Given the description of an element on the screen output the (x, y) to click on. 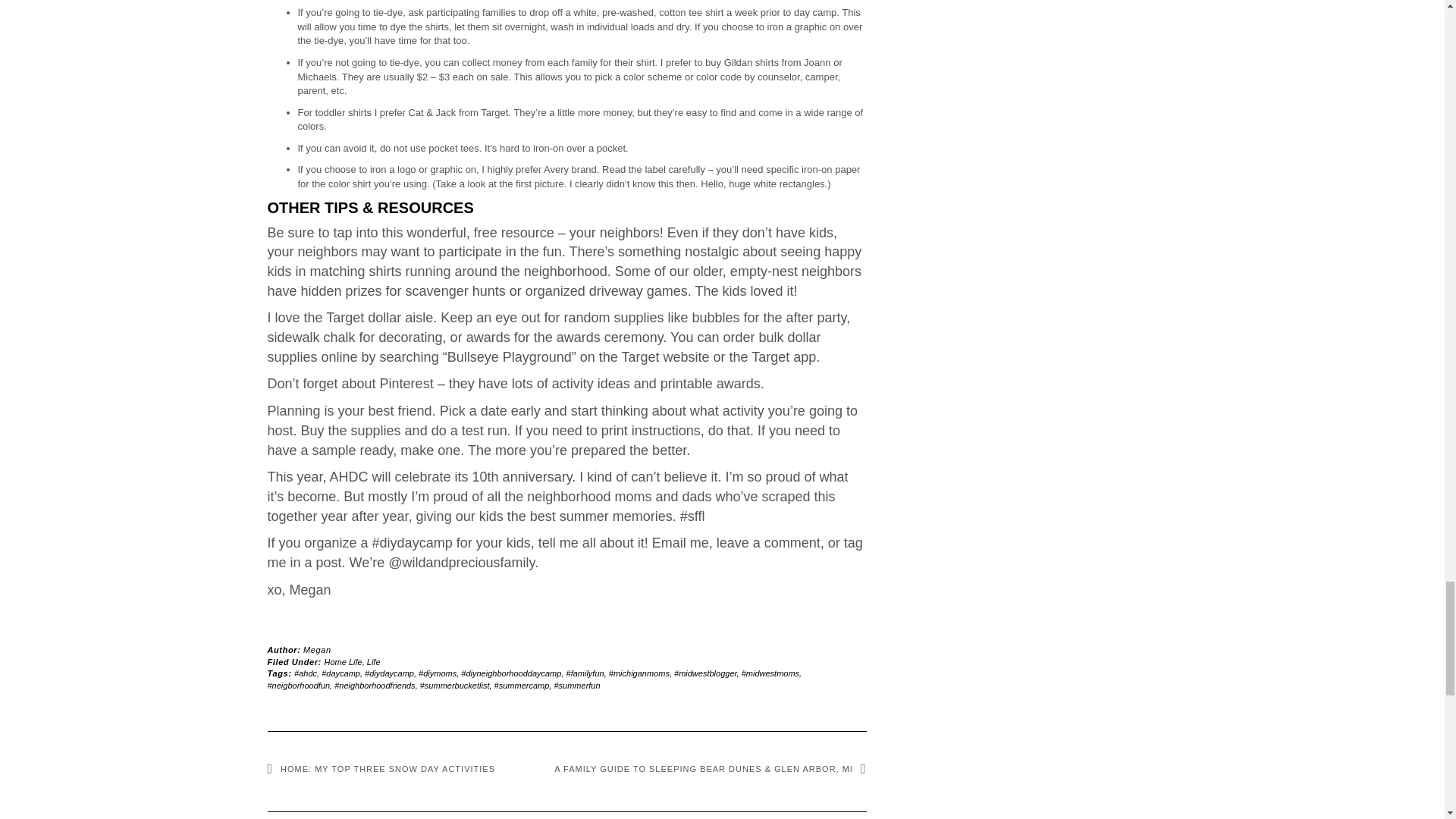
Life (373, 661)
Megan (316, 649)
Posts by Megan (316, 649)
Home Life (343, 661)
HOME: MY TOP THREE SNOW DAY ACTIVITIES (380, 768)
